Given the description of an element on the screen output the (x, y) to click on. 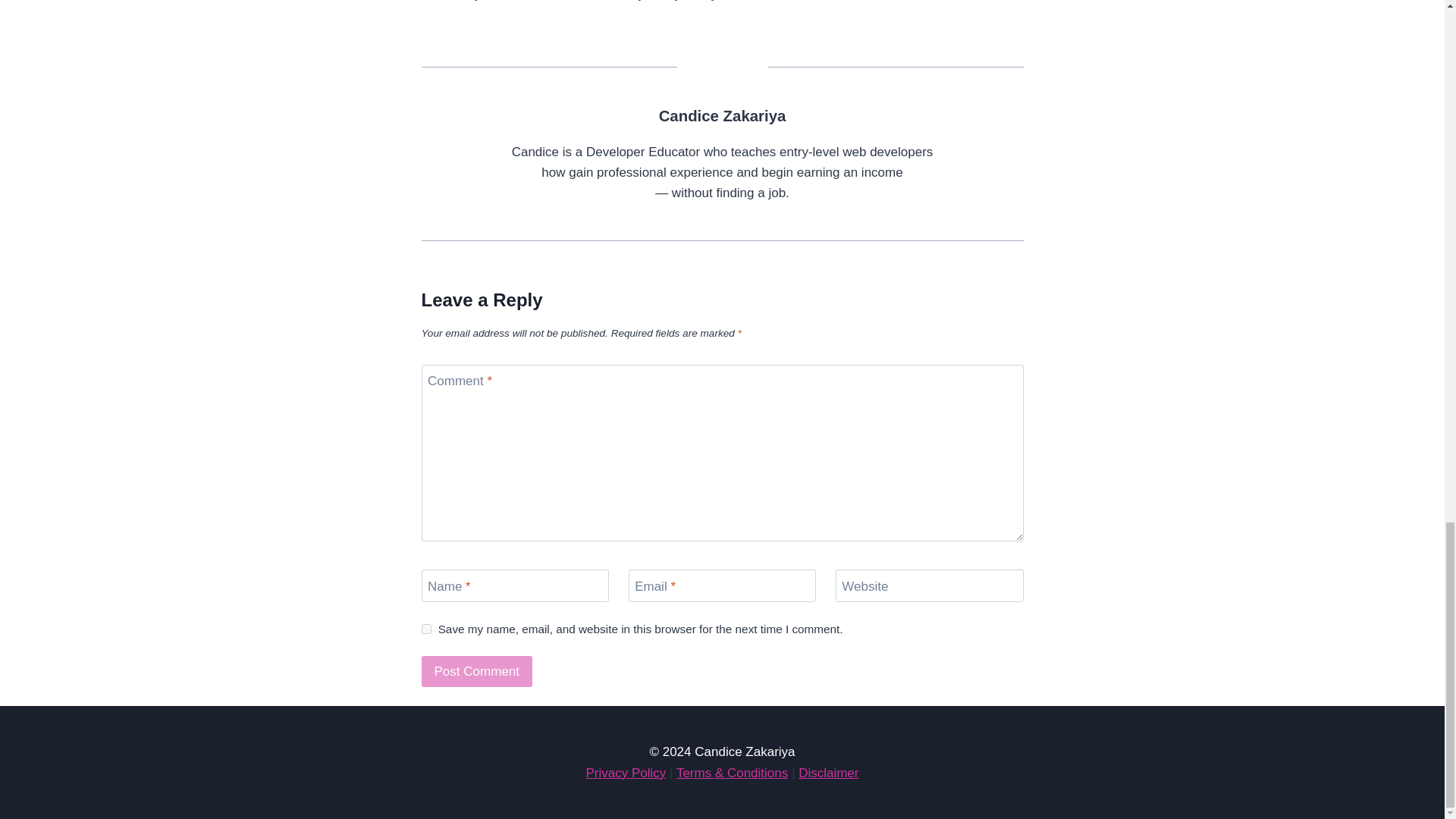
Post Comment (477, 671)
Post Comment (477, 671)
Posts by Candice Zakariya (722, 115)
Disclaimer (828, 772)
Privacy Policy (625, 772)
yes (426, 628)
Candice Zakariya (722, 115)
